Given the description of an element on the screen output the (x, y) to click on. 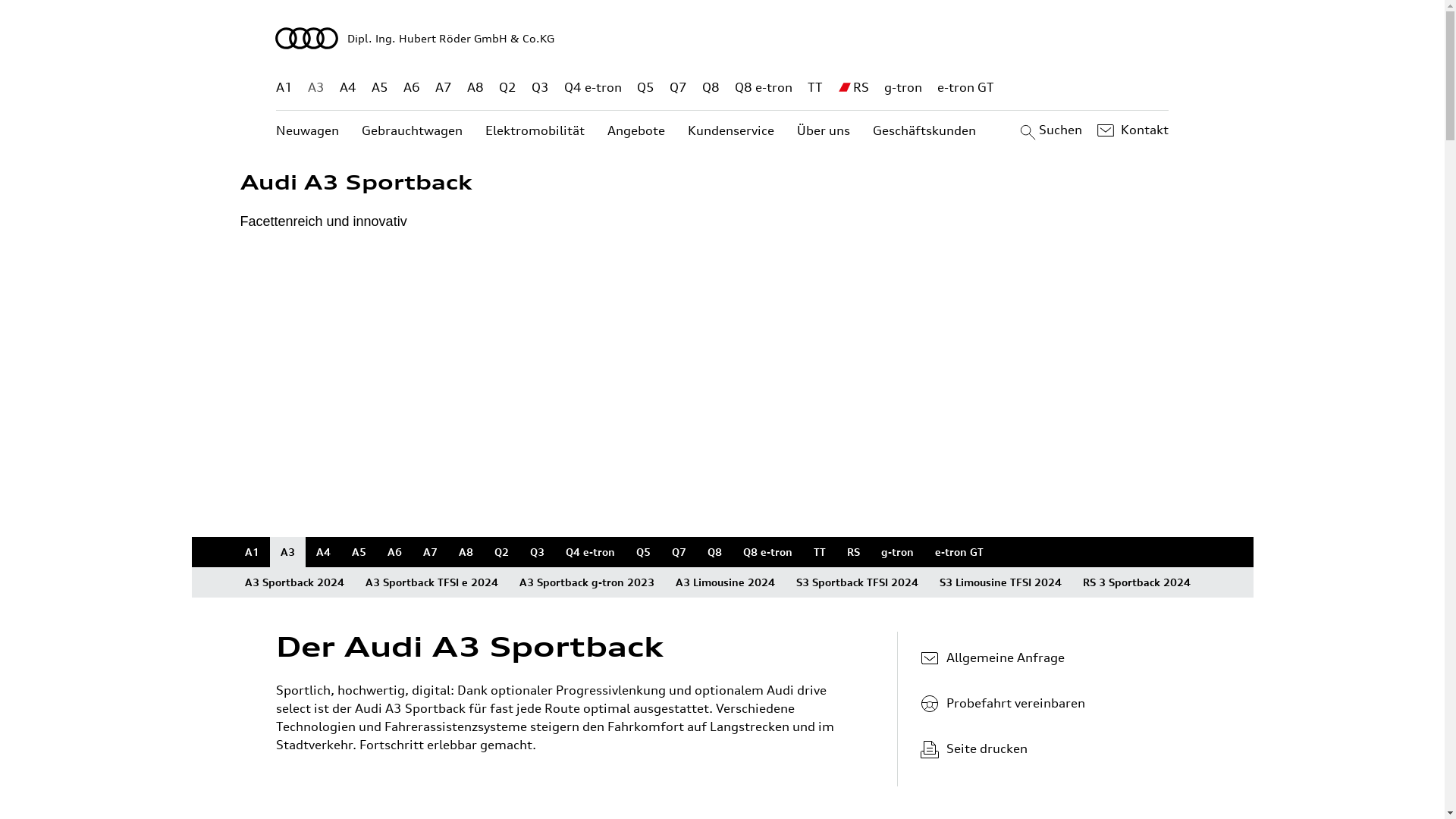
g-tron Element type: text (903, 87)
e-tron GT Element type: text (958, 551)
TT Element type: text (814, 87)
A3 Sportback TFSI e 2024 Element type: text (431, 582)
Q2 Element type: text (501, 551)
Kontakt Element type: text (1130, 130)
A6 Element type: text (393, 551)
A4 Element type: text (322, 551)
A3 Element type: text (315, 87)
RS Element type: text (861, 87)
RS Element type: text (852, 551)
Kundenservice Element type: text (730, 130)
Q2 Element type: text (507, 87)
TT Element type: text (818, 551)
Neuwagen Element type: text (307, 130)
S3 Sportback TFSI 2024 Element type: text (856, 582)
Q8 e-tron Element type: text (763, 87)
A6 Element type: text (411, 87)
A3 Element type: text (287, 551)
A5 Element type: text (358, 551)
A8 Element type: text (475, 87)
S3 Limousine TFSI 2024 Element type: text (999, 582)
Q3 Element type: text (536, 551)
g-tron Element type: text (897, 551)
A3 Limousine 2024 Element type: text (724, 582)
Q7 Element type: text (678, 551)
Q8 e-tron Element type: text (767, 551)
e-tron GT Element type: text (965, 87)
A4 Element type: text (347, 87)
RS 3 Sportback 2024 Element type: text (1136, 582)
Gebrauchtwagen Element type: text (411, 130)
A1 Element type: text (251, 551)
Q5 Element type: text (645, 87)
Probefahrt vereinbaren Element type: text (1038, 702)
Q4 e-tron Element type: text (592, 87)
A3 Sportback g-tron 2023 Element type: text (586, 582)
Q8 Element type: text (713, 551)
A7 Element type: text (443, 87)
A8 Element type: text (465, 551)
Allgemeine Anfrage Element type: text (1038, 657)
Seite drucken Element type: text (1044, 748)
Q3 Element type: text (540, 87)
Q7 Element type: text (678, 87)
Q5 Element type: text (642, 551)
A5 Element type: text (379, 87)
A7 Element type: text (430, 551)
A1 Element type: text (284, 87)
A3 Sportback 2024 Element type: text (293, 582)
Q4 e-tron Element type: text (590, 551)
Suchen Element type: text (1049, 130)
Angebote Element type: text (636, 130)
Q8 Element type: text (710, 87)
